Given the description of an element on the screen output the (x, y) to click on. 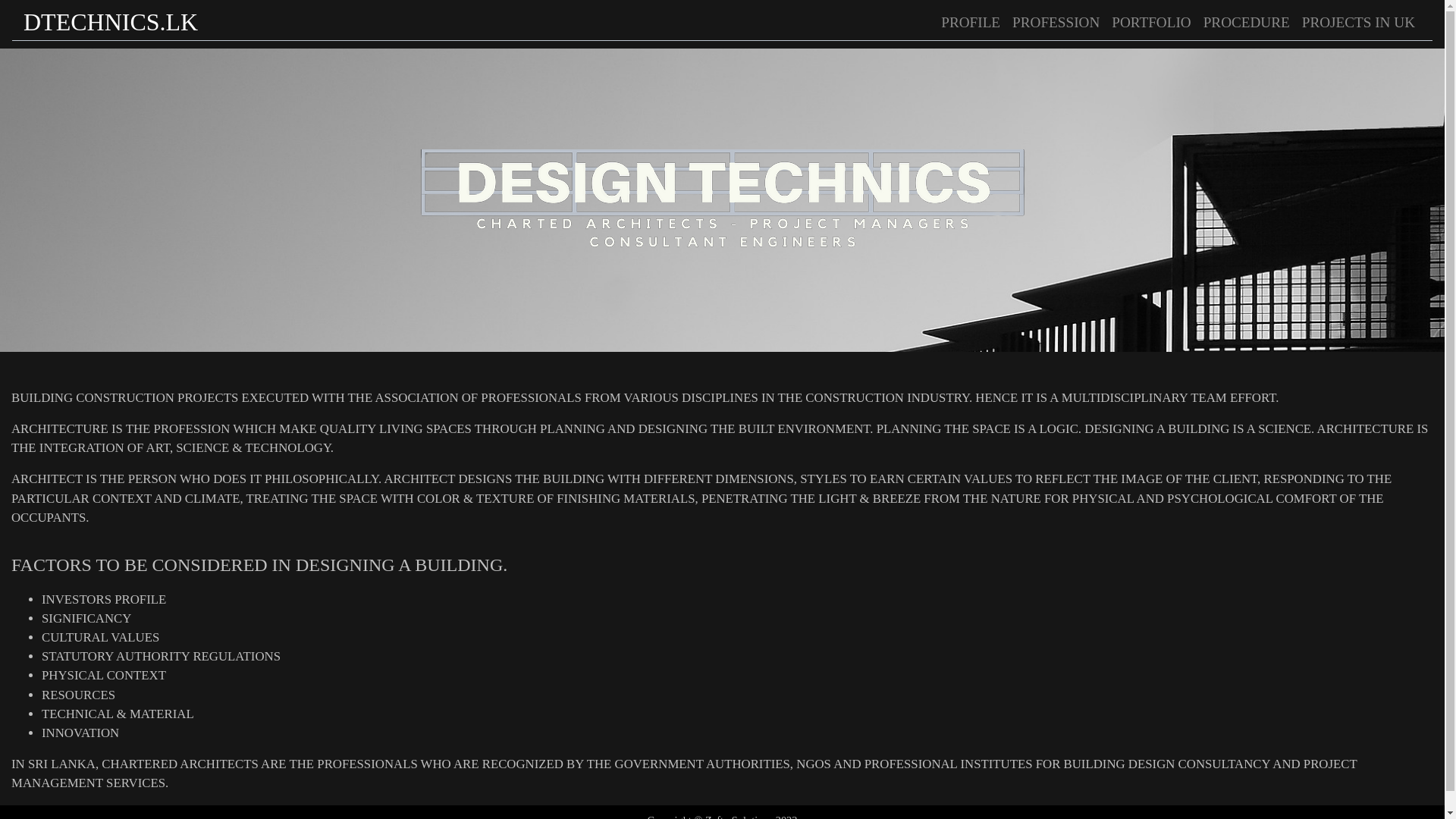
PROCEDURE (1245, 22)
PROJECTS IN UK (1358, 22)
DTECHNICS.LK (110, 23)
PROFILE (970, 22)
PROFESSION (1055, 22)
PORTFOLIO (1150, 22)
